Given the description of an element on the screen output the (x, y) to click on. 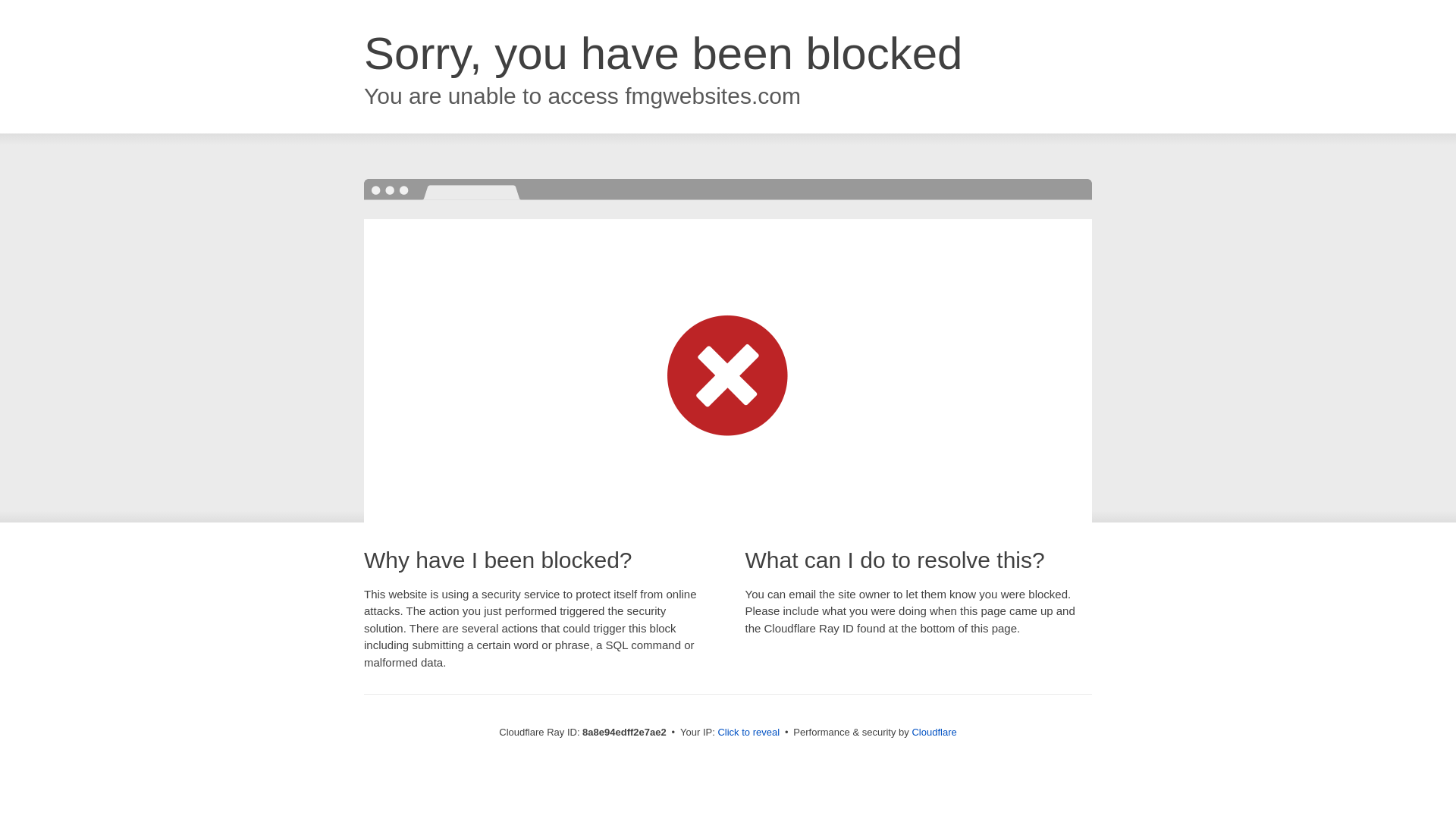
Cloudflare (933, 731)
Click to reveal (747, 732)
